Given the description of an element on the screen output the (x, y) to click on. 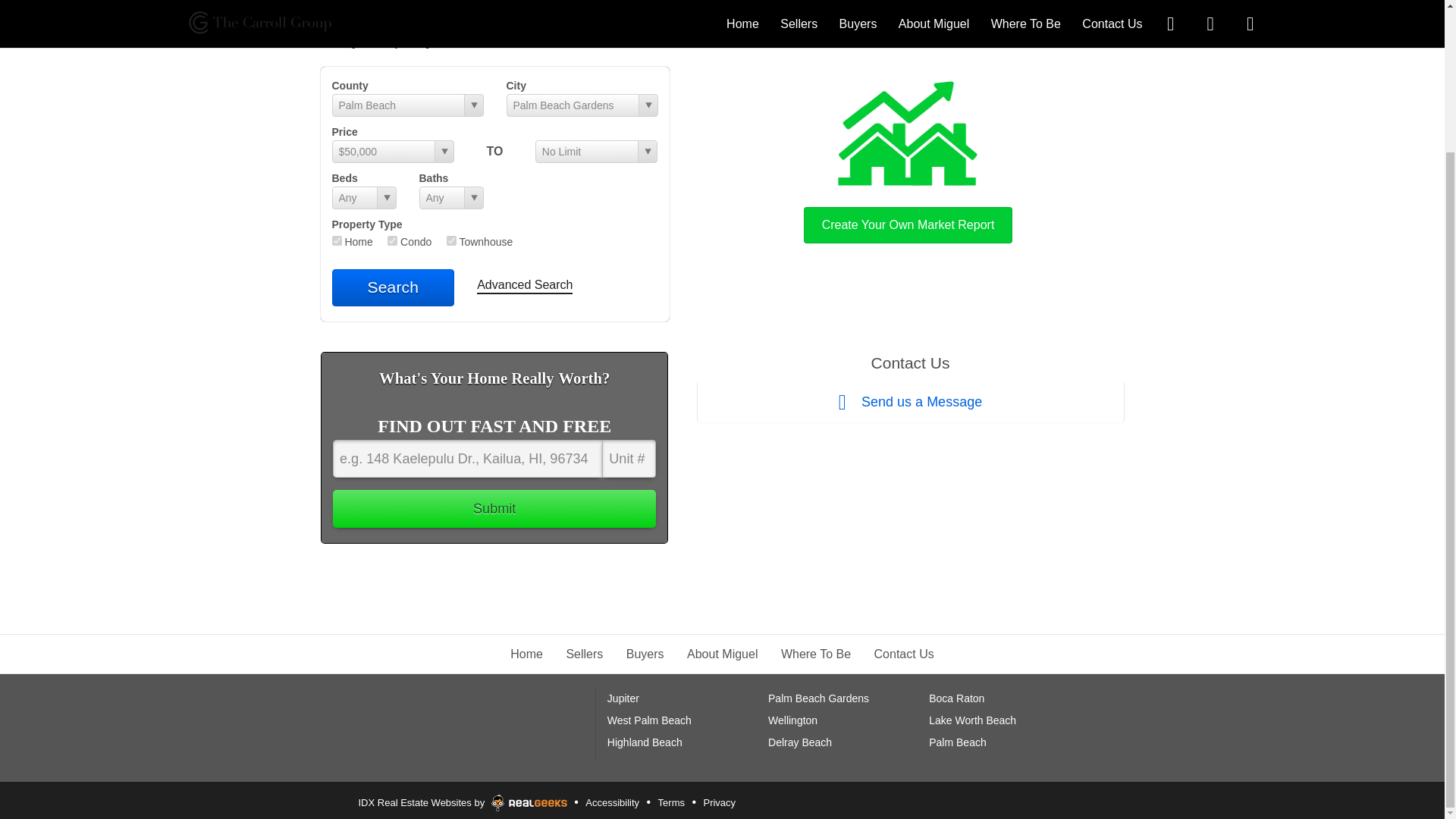
Advanced Search (524, 286)
Privacy (718, 802)
Highland Beach (644, 742)
West Palm Beach (649, 720)
Home (527, 653)
Contact Us (904, 653)
Search (392, 287)
Create Your Own Market Report (907, 158)
About Miguel (722, 653)
Palm Beach (956, 742)
Lake Worth Beach (972, 720)
Send us a Message (909, 402)
Where To Be (815, 653)
Search (392, 287)
con (392, 240)
